Given the description of an element on the screen output the (x, y) to click on. 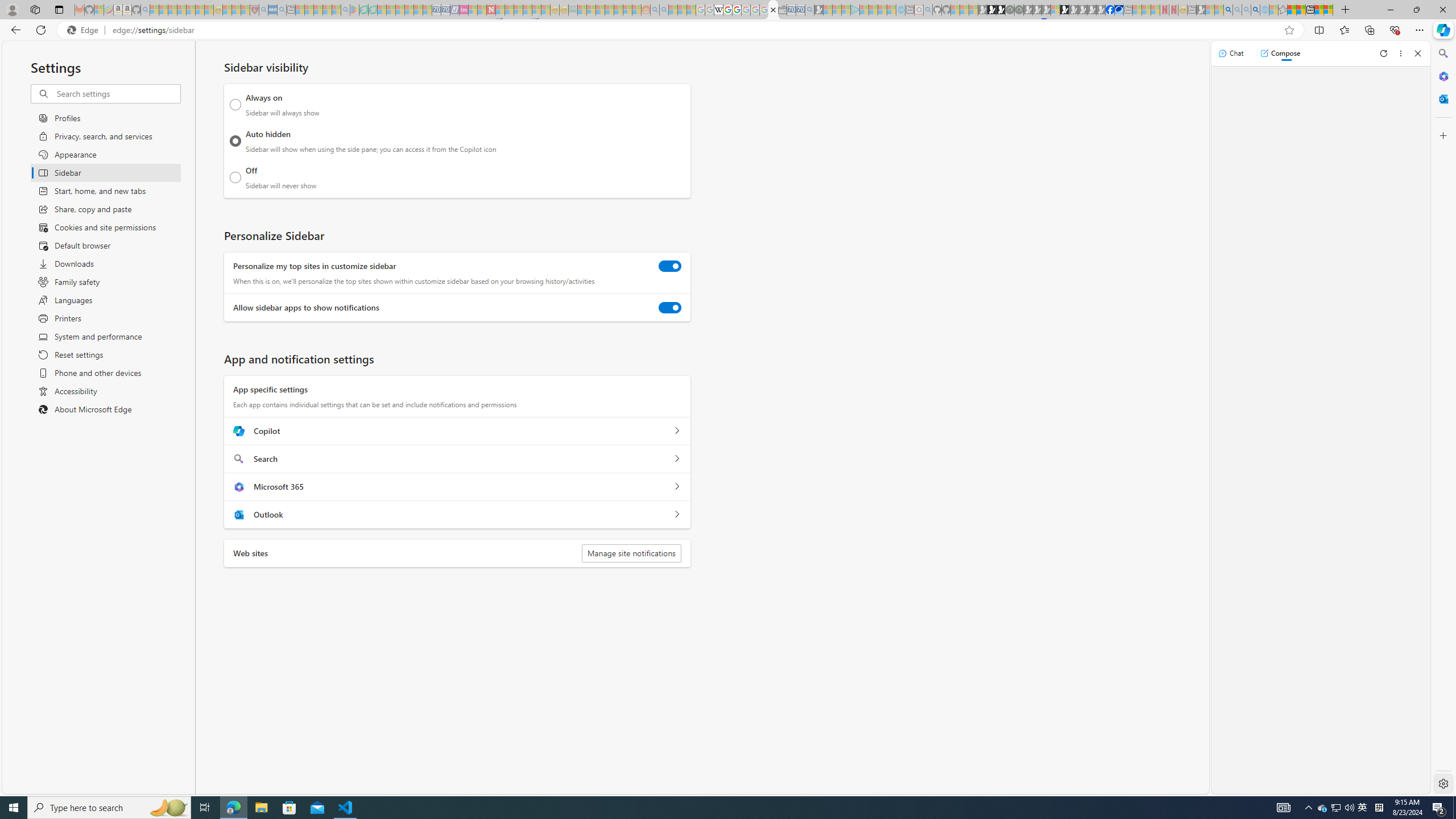
Manage site notifications (630, 553)
Latest Politics News & Archive | Newsweek.com - Sleeping (490, 9)
Kinda Frugal - MSN - Sleeping (617, 9)
